Given the description of an element on the screen output the (x, y) to click on. 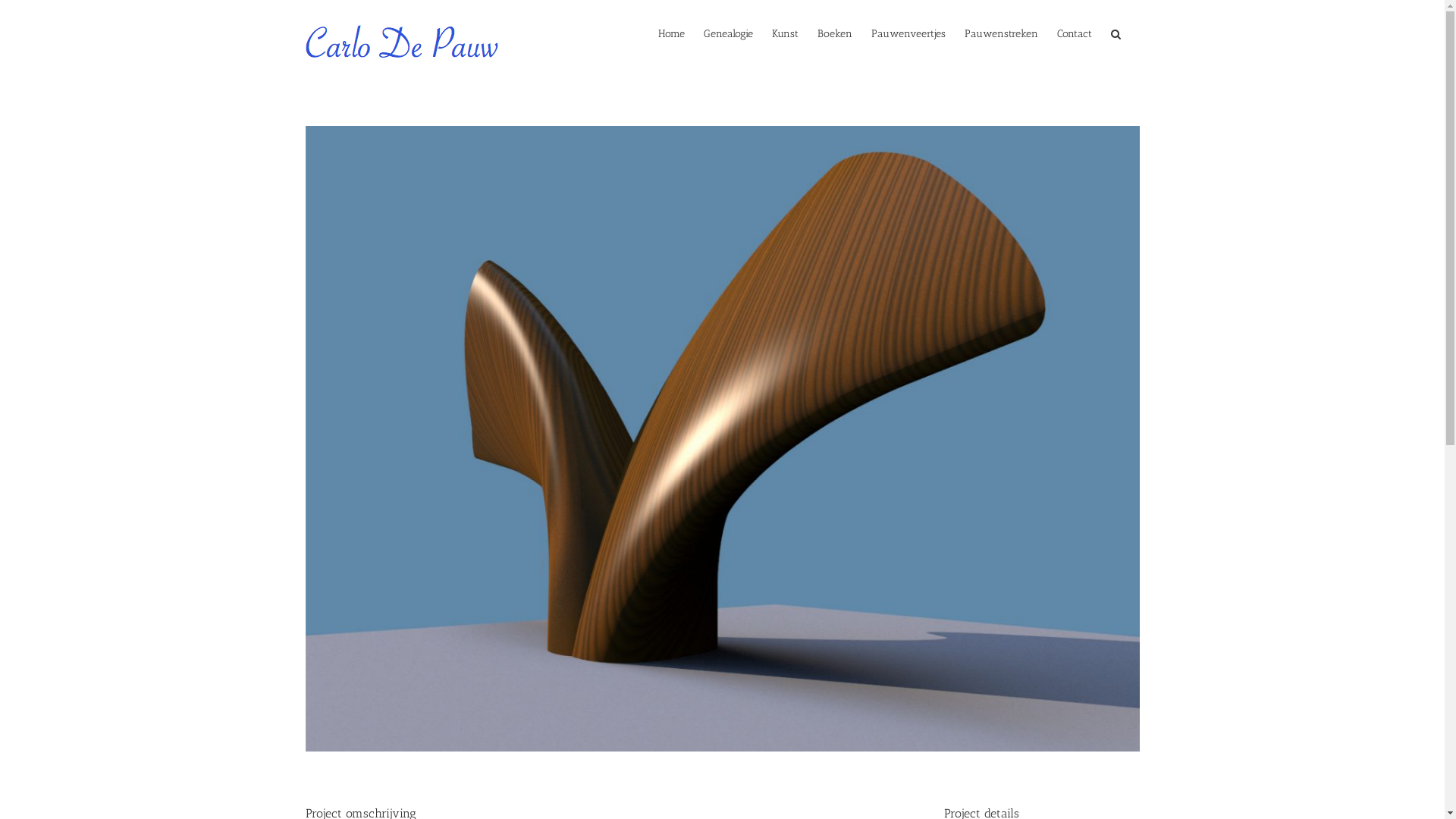
Home Element type: text (671, 32)
Kunst Element type: text (784, 32)
Zoeken Element type: hover (1115, 32)
Contact Element type: text (1074, 32)
Pauwenstreken Element type: text (1001, 32)
Pauwenveertjes Element type: text (907, 32)
Boeken Element type: text (834, 32)
Genealogie Element type: text (728, 32)
